Given the description of an element on the screen output the (x, y) to click on. 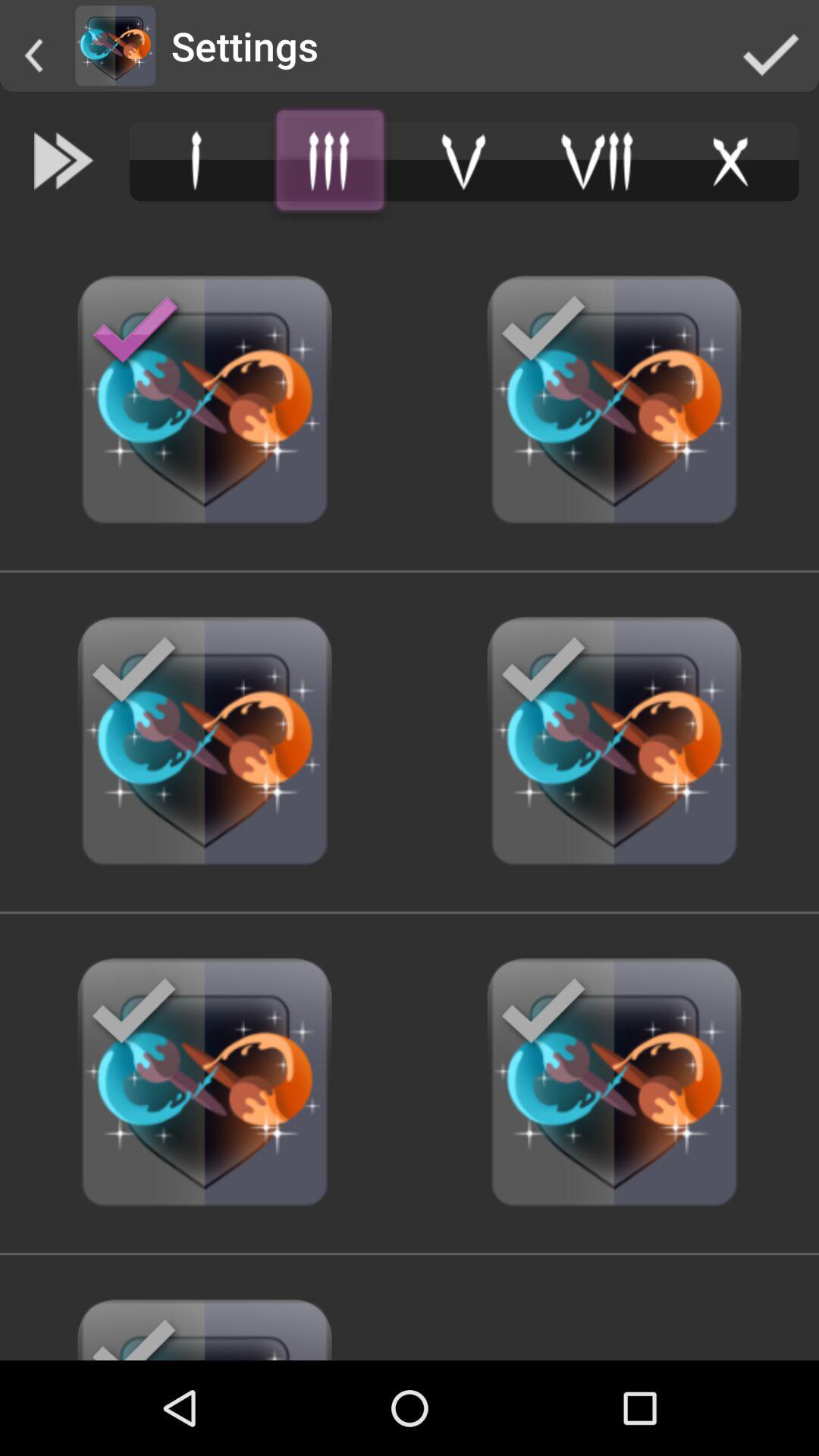
go foward (63, 161)
